Given the description of an element on the screen output the (x, y) to click on. 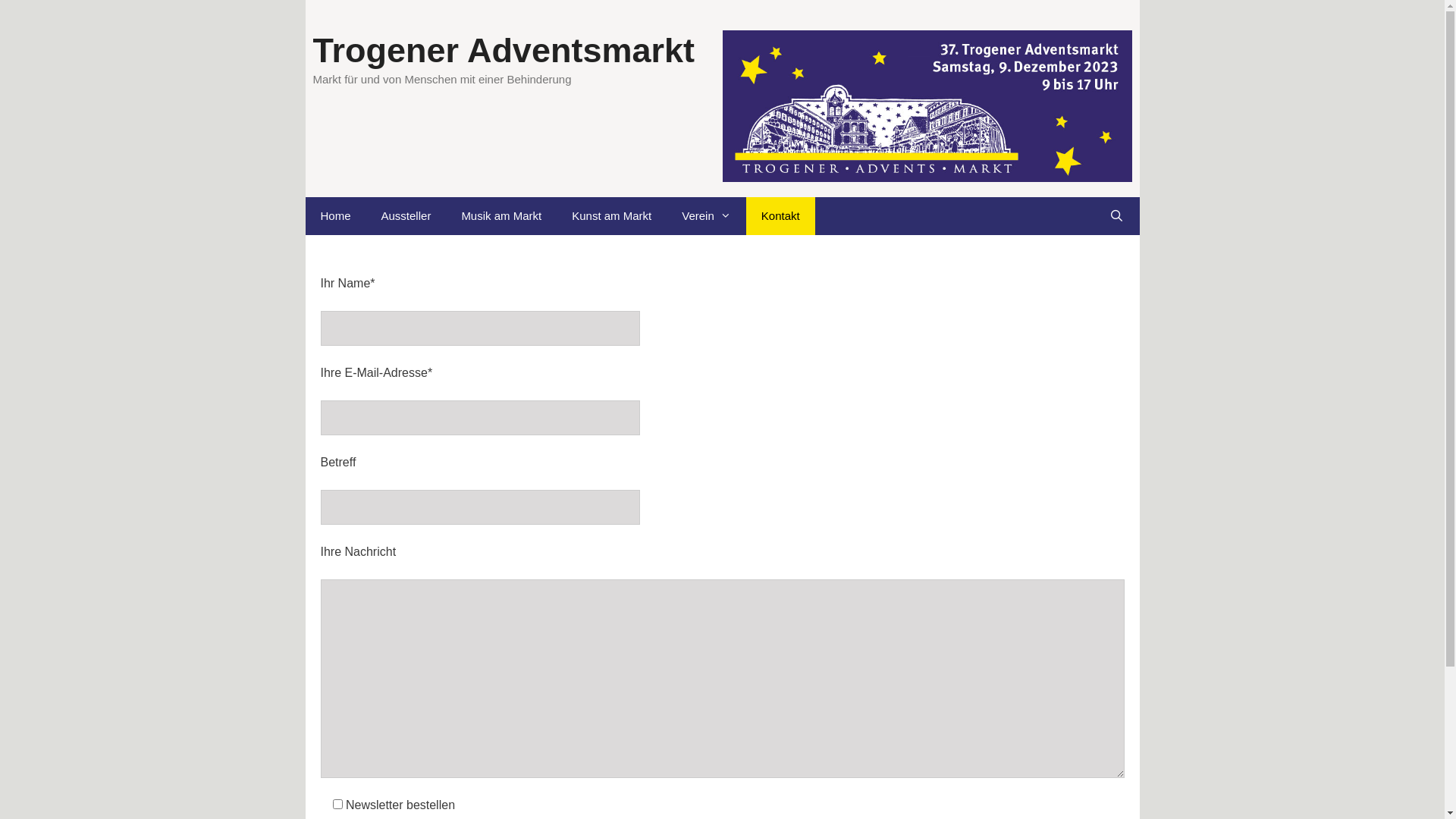
Musik am Markt Element type: text (500, 216)
Kunst am Markt Element type: text (611, 216)
Home Element type: text (334, 216)
Aussteller Element type: text (406, 216)
Verein Element type: text (706, 216)
Trogener Adventsmarkt Element type: text (502, 50)
Kontakt Element type: text (780, 216)
